Given the description of an element on the screen output the (x, y) to click on. 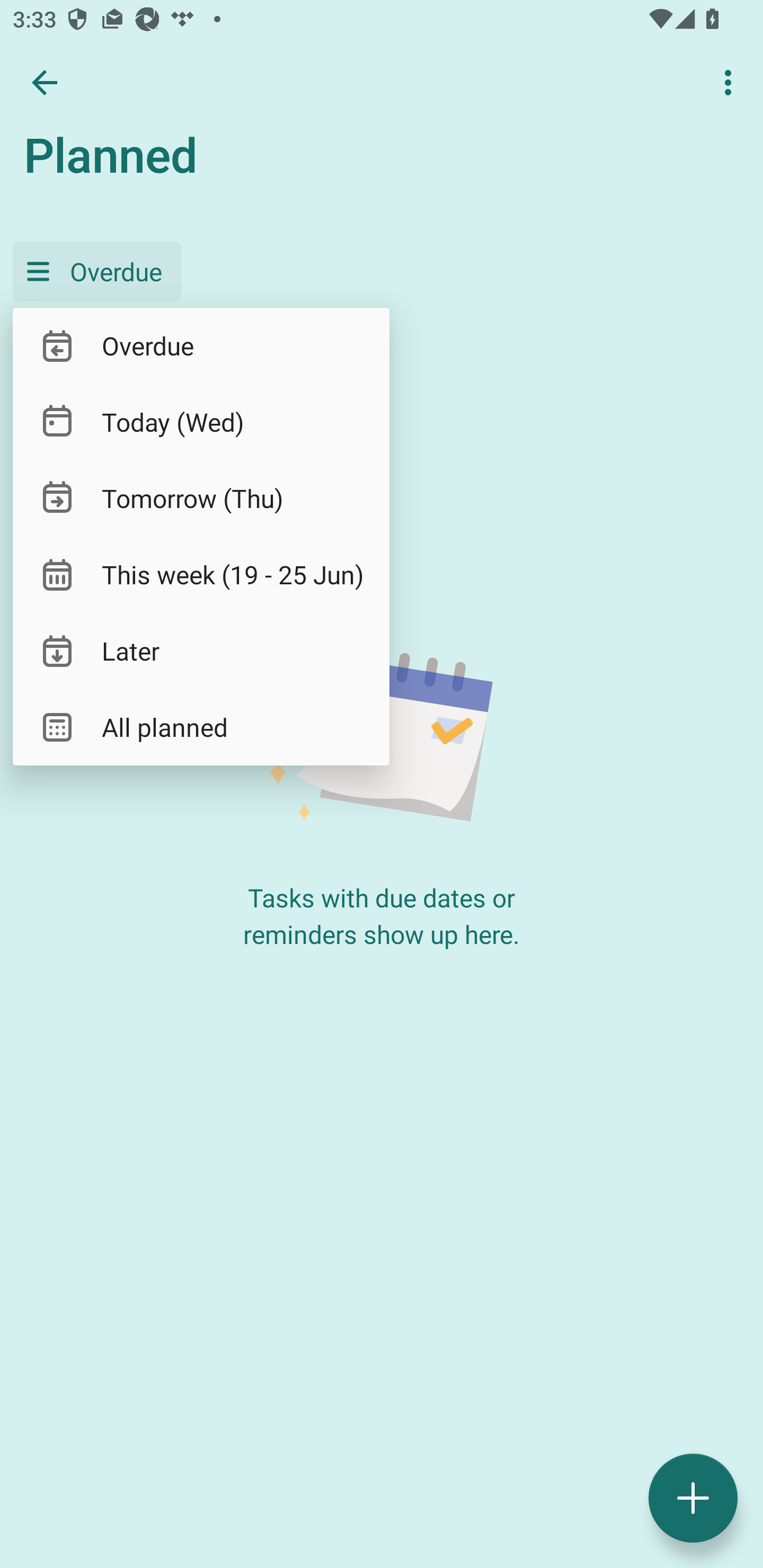
This week (19 - 25 Jun) (200, 574)
